Given the description of an element on the screen output the (x, y) to click on. 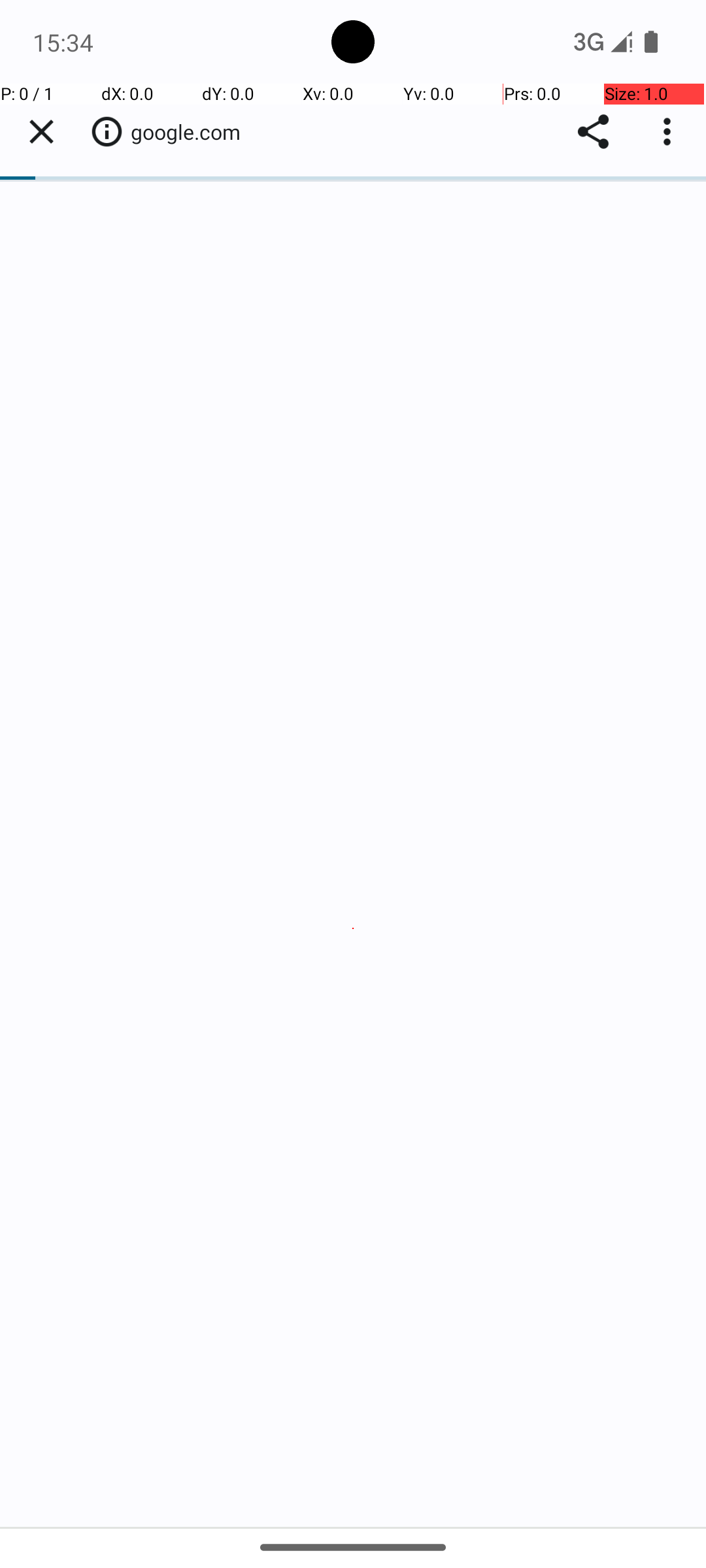
Web View Element type: android.widget.FrameLayout (353, 804)
Close tab Element type: android.widget.ImageButton (41, 131)
Your connection to this site is not secure Element type: android.widget.ImageButton (106, 131)
Share Element type: android.widget.ImageButton (593, 131)
More options Element type: android.widget.ImageButton (670, 131)
google.com Element type: android.widget.TextView (192, 131)
